Given the description of an element on the screen output the (x, y) to click on. 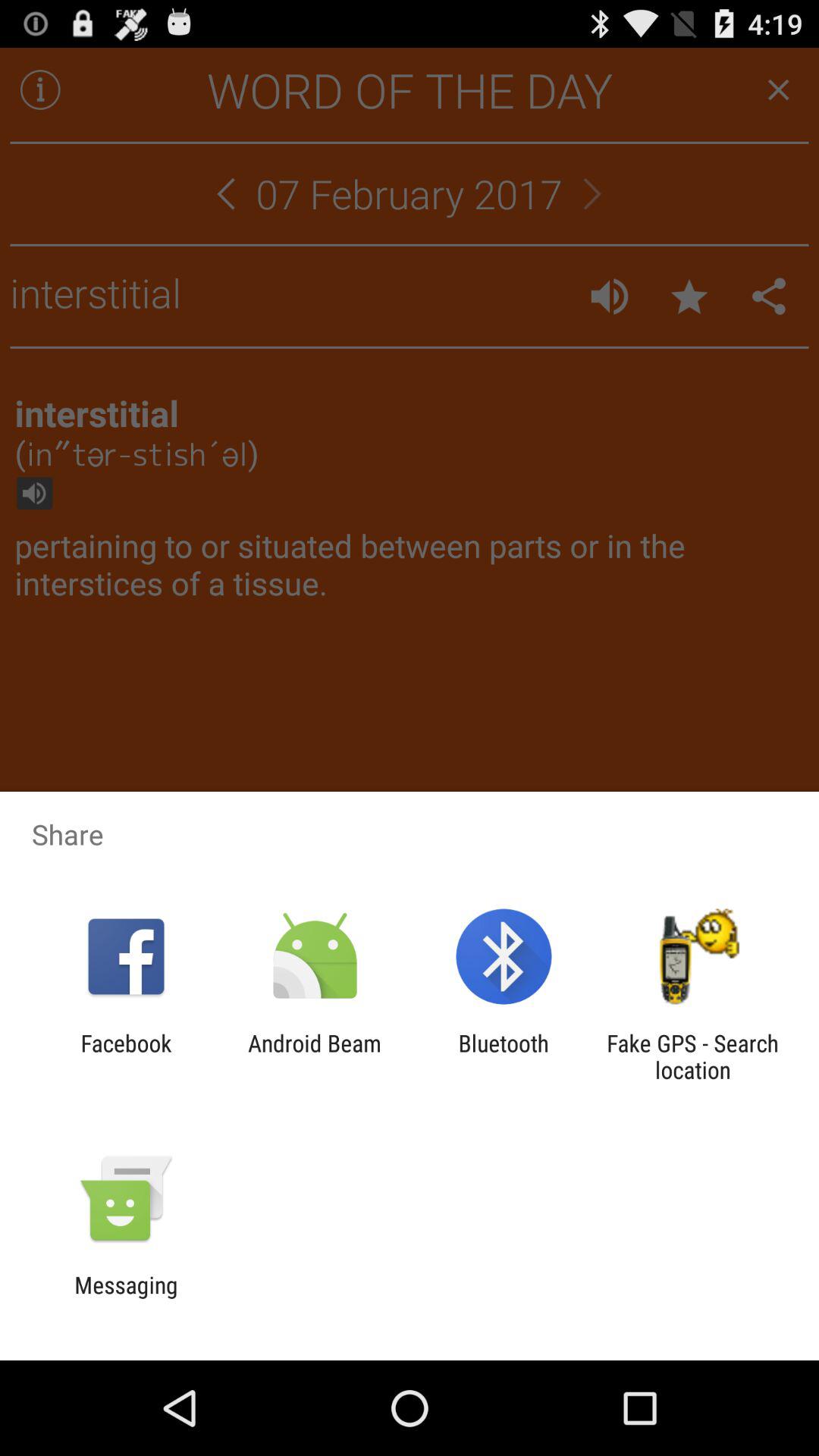
tap android beam app (314, 1056)
